Given the description of an element on the screen output the (x, y) to click on. 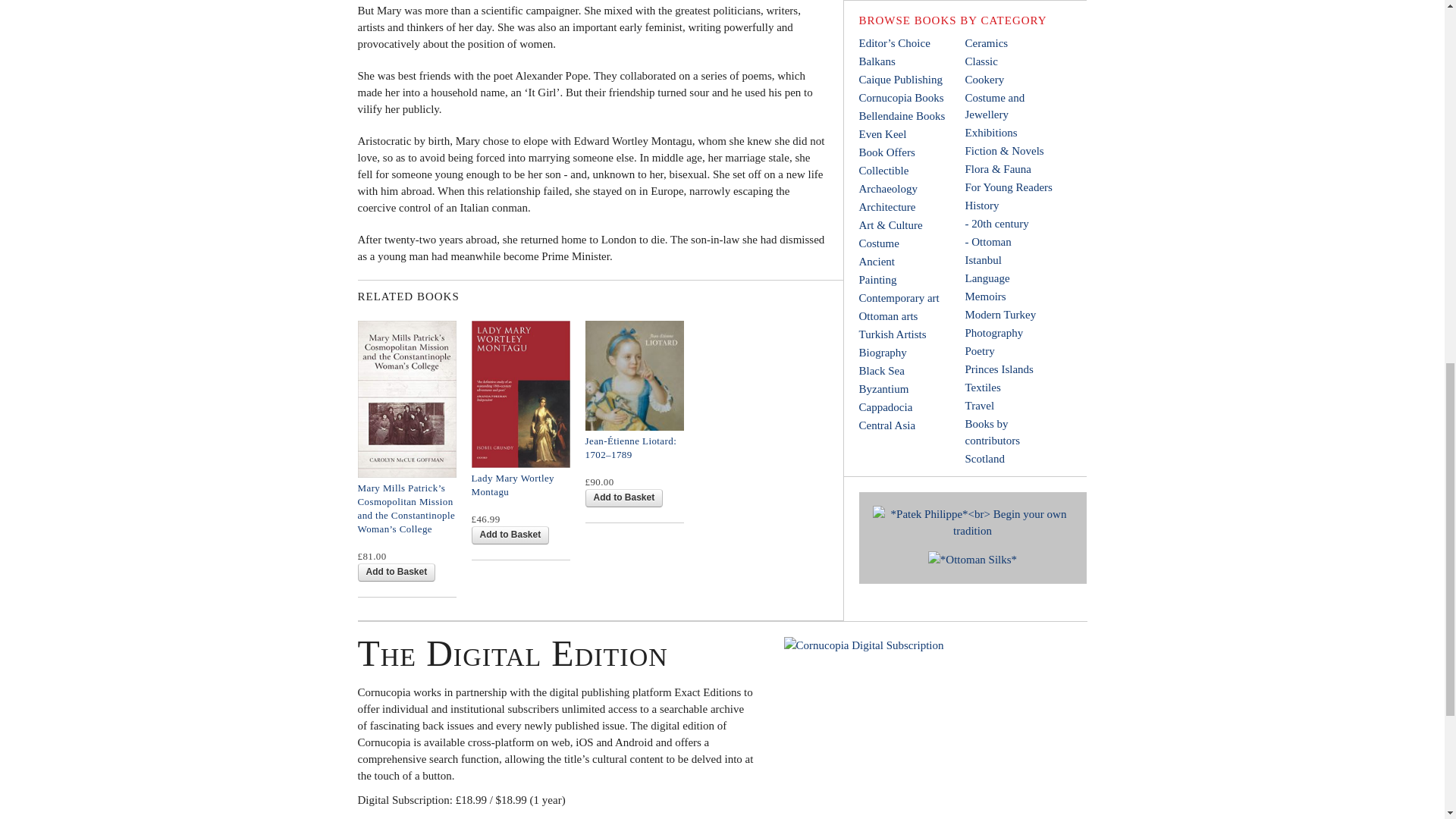
Cornucopia Digital Subscription (920, 728)
